Given the description of an element on the screen output the (x, y) to click on. 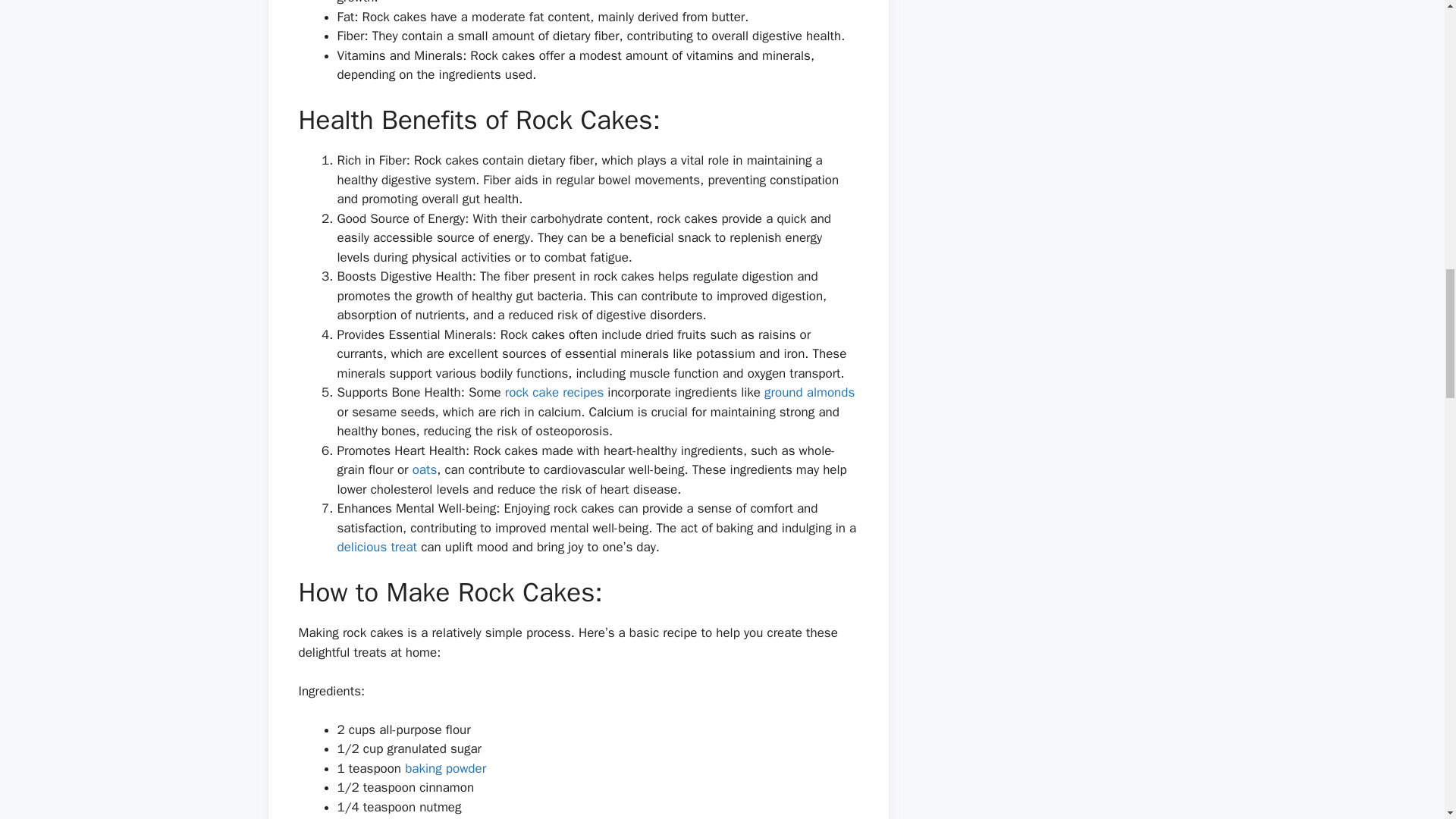
baking powder (445, 768)
ground almonds (809, 392)
delicious treat (376, 546)
rock cake recipes (552, 392)
oats (425, 469)
